Given the description of an element on the screen output the (x, y) to click on. 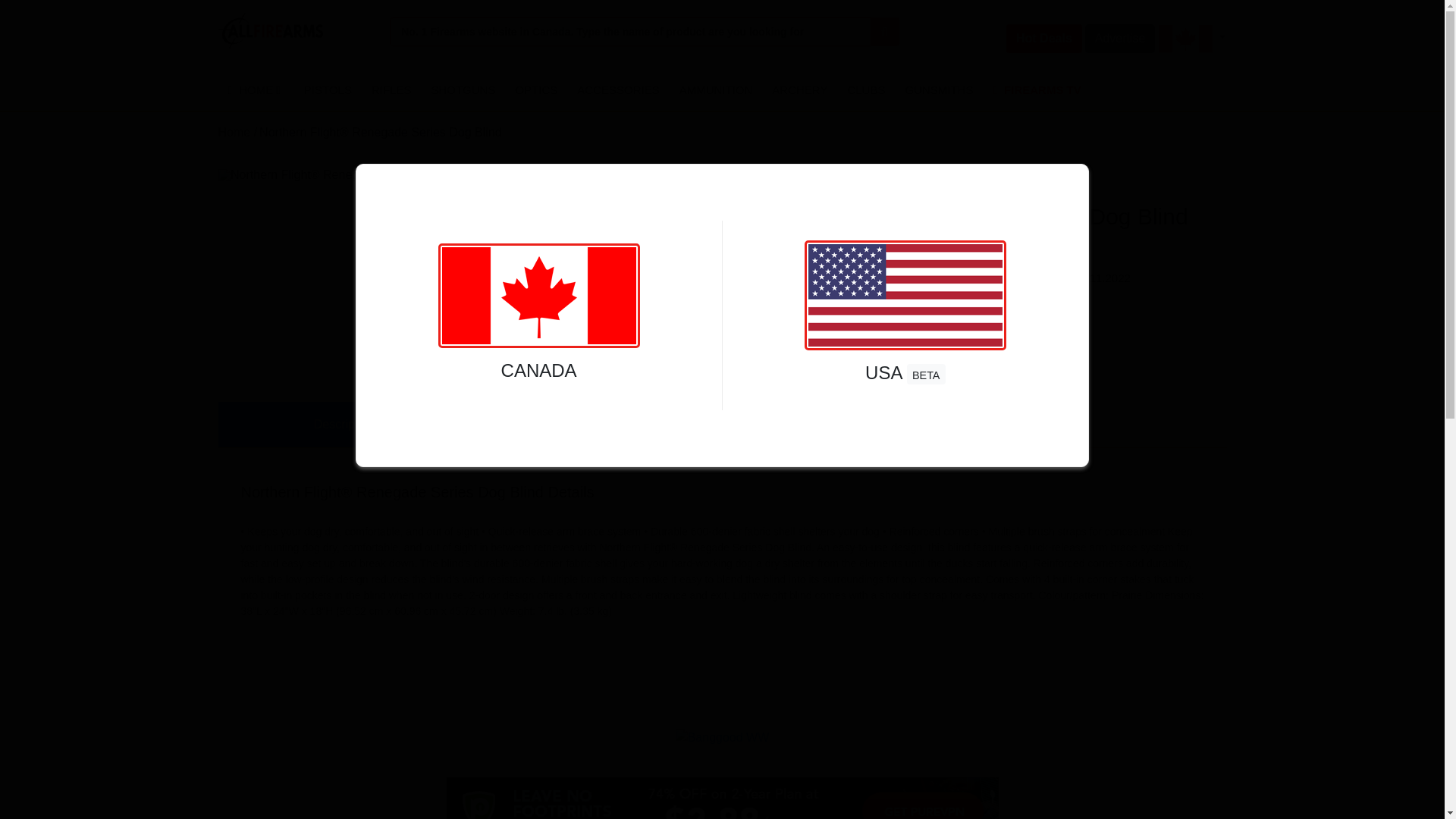
RIFLES (391, 90)
PISTOLS (327, 90)
Home (234, 132)
AMMUNITION (715, 90)
ACCESSORIES (617, 90)
Set alert for cheapest price! (707, 179)
Watch firearms videos (1036, 90)
HOME (256, 90)
OPTICS (536, 90)
SHOTGUNS (462, 90)
Best VPN (721, 798)
CANADA (539, 335)
Advertise on allfirearms.ca (1120, 38)
Hot Deals (1037, 38)
Advertise (1114, 38)
